Given the description of an element on the screen output the (x, y) to click on. 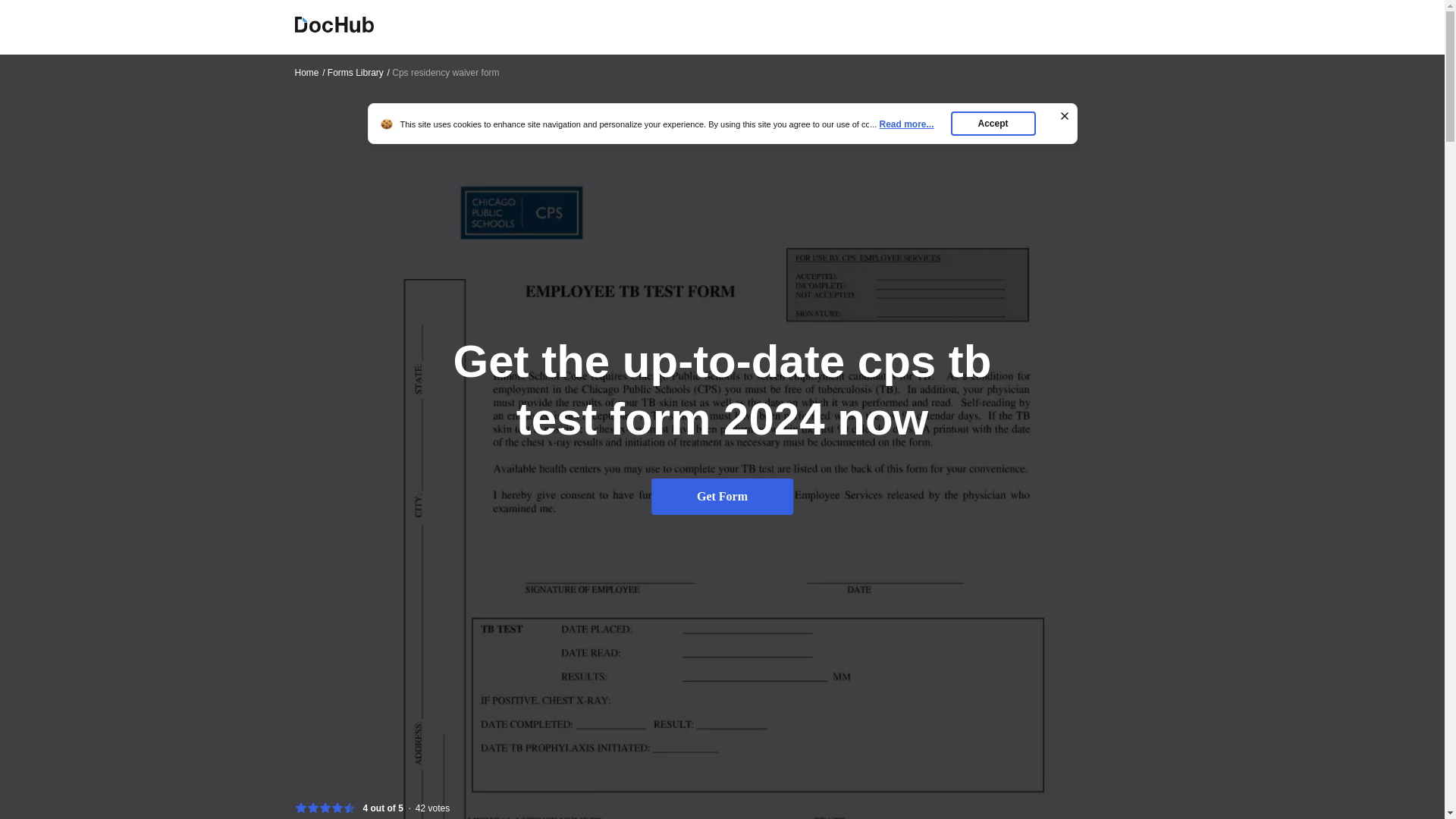
Forms Library (358, 72)
Home (722, 436)
